Given the description of an element on the screen output the (x, y) to click on. 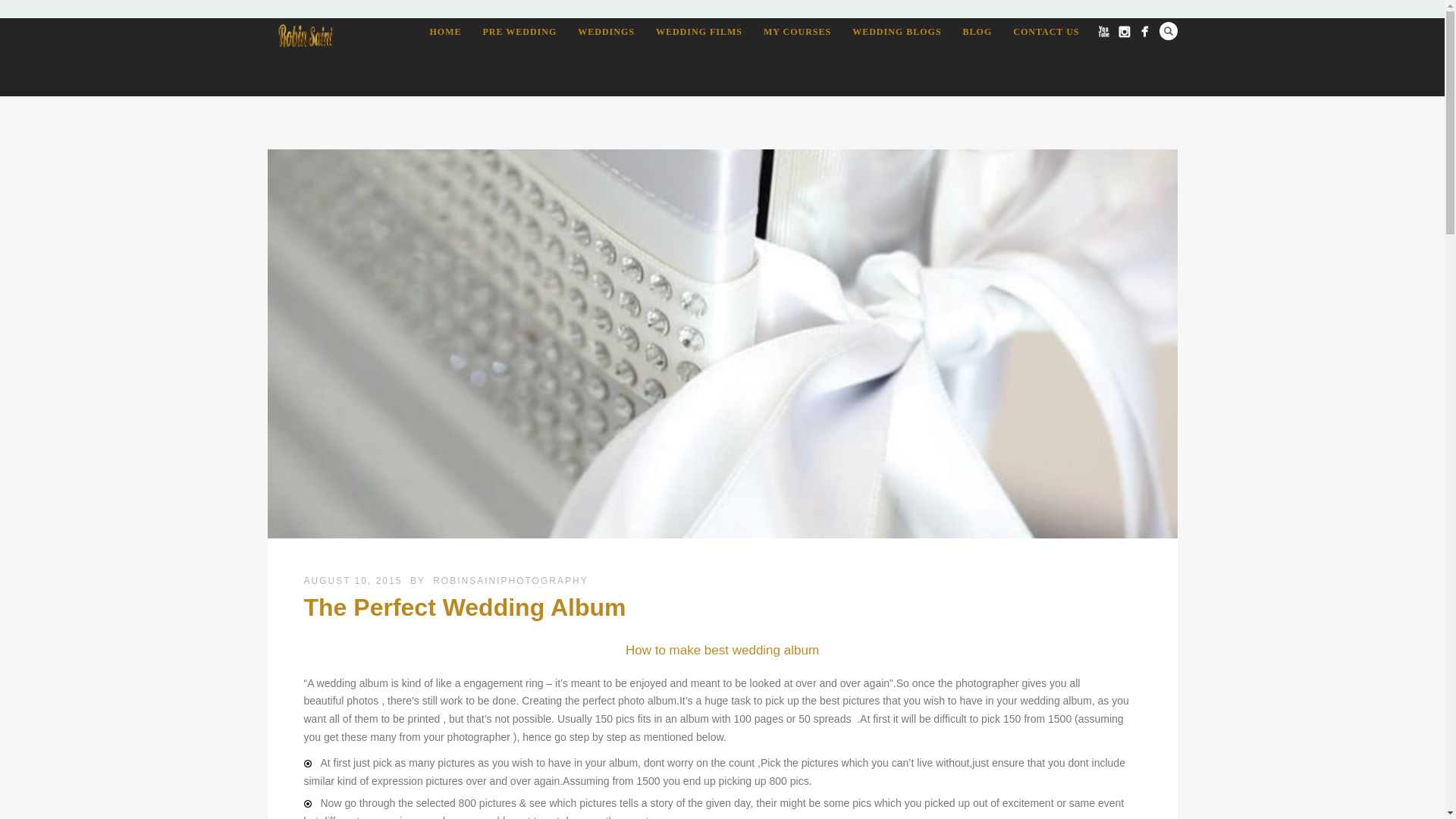
BLOG (977, 31)
CONTACT US (1046, 31)
WEDDING FILMS (698, 31)
MY COURSES (796, 31)
WEDDING BLOGS (896, 31)
PRE WEDDING (519, 31)
ROBINSAINIPHOTOGRAPHY (510, 580)
Search (1167, 31)
WEDDINGS (606, 31)
World class wedding pics from facebook (1143, 31)
HOME (445, 31)
